Given the description of an element on the screen output the (x, y) to click on. 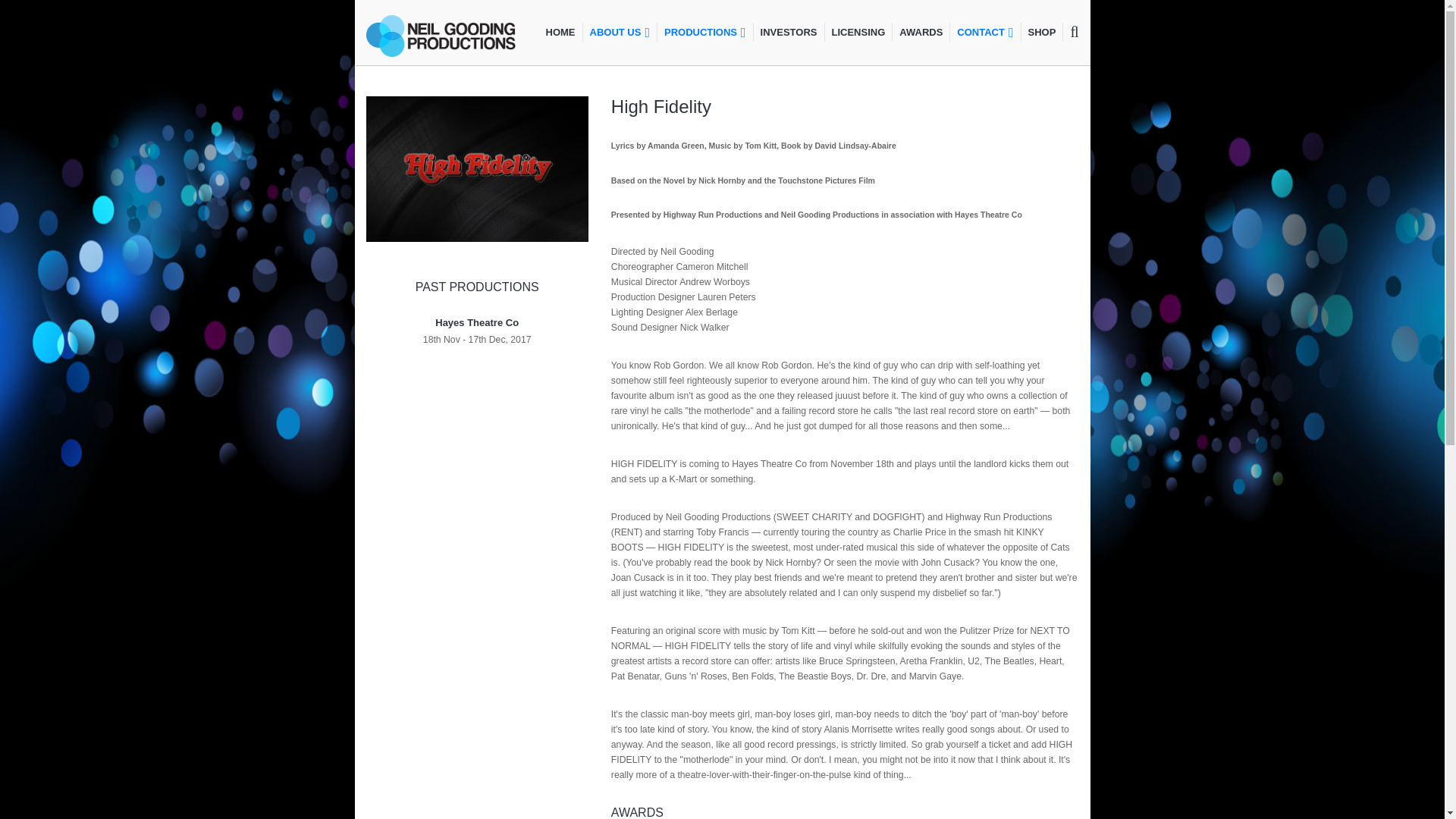
LICENSING (857, 31)
SHOP (1041, 31)
HOME (559, 31)
High Fidelity (476, 168)
PRODUCTIONS (704, 32)
AWARDS (920, 31)
Neil Gooding Productions (443, 35)
ABOUT US (619, 32)
CONTACT (984, 32)
INVESTORS (788, 31)
